Given the description of an element on the screen output the (x, y) to click on. 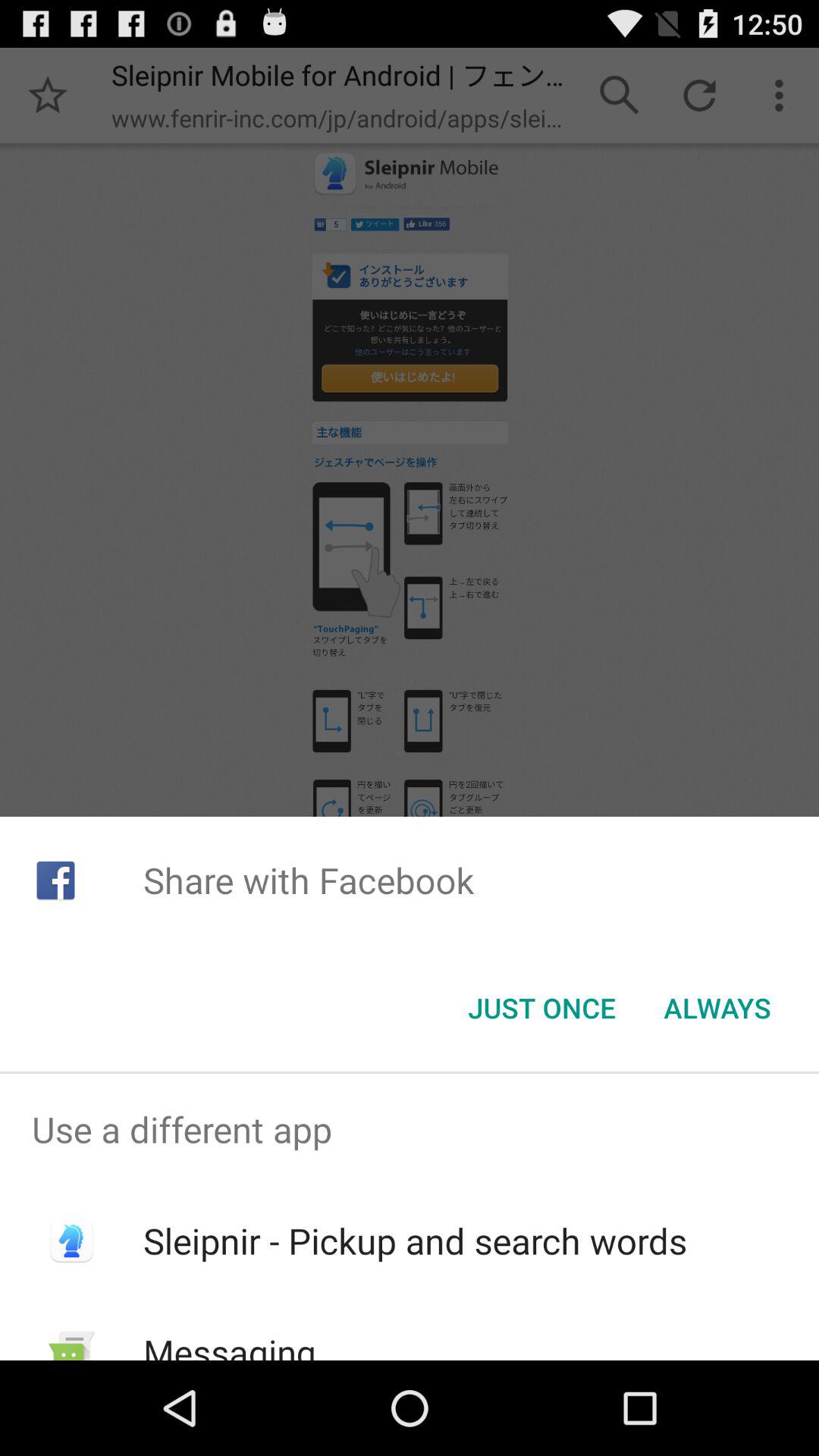
flip until use a different app (409, 1129)
